Given the description of an element on the screen output the (x, y) to click on. 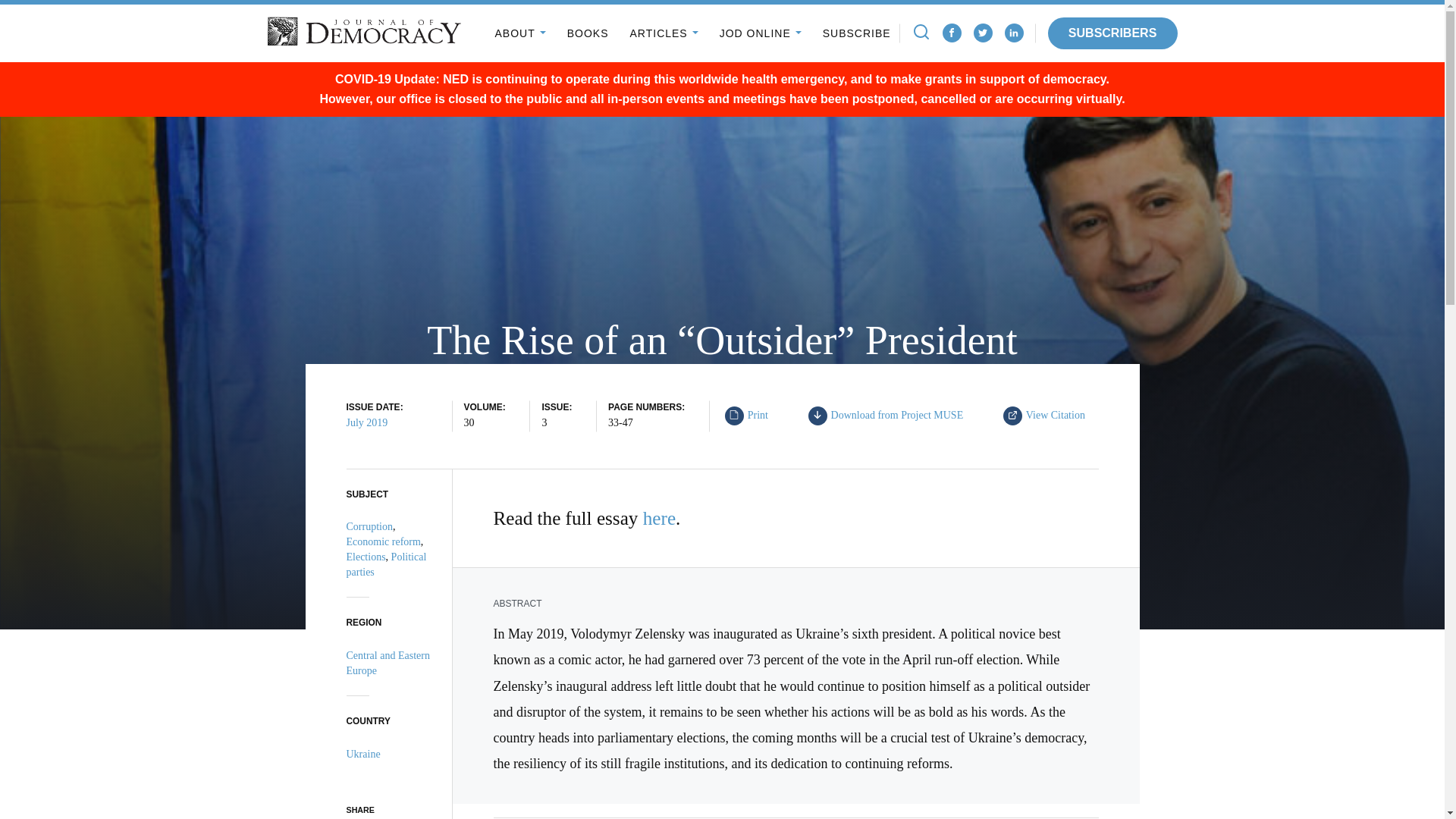
SUBSCRIBE (856, 33)
Vitaliy Shpak (797, 419)
twitter (983, 32)
search (921, 31)
arrow-down-thin (817, 414)
file (733, 414)
JOD ONLINE (760, 33)
twitter (982, 31)
ARTICLES (662, 33)
Twitter (983, 32)
linkedin (1013, 32)
linkedin (1013, 31)
Joanna Rohozinska (667, 419)
LinkedIn (890, 415)
